Given the description of an element on the screen output the (x, y) to click on. 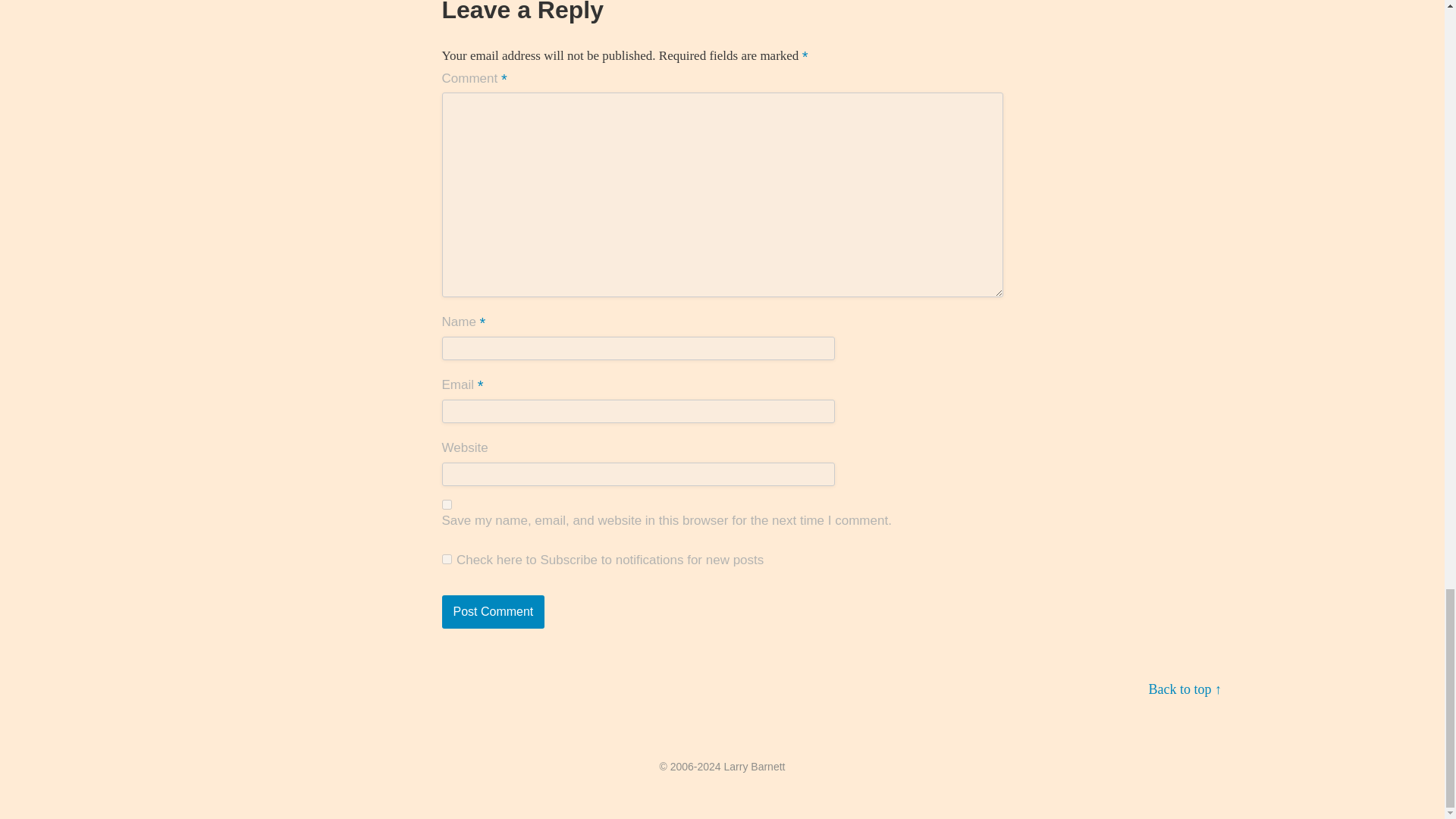
Post Comment (492, 611)
Post Comment (492, 611)
yes (446, 504)
1 (446, 559)
